Given the description of an element on the screen output the (x, y) to click on. 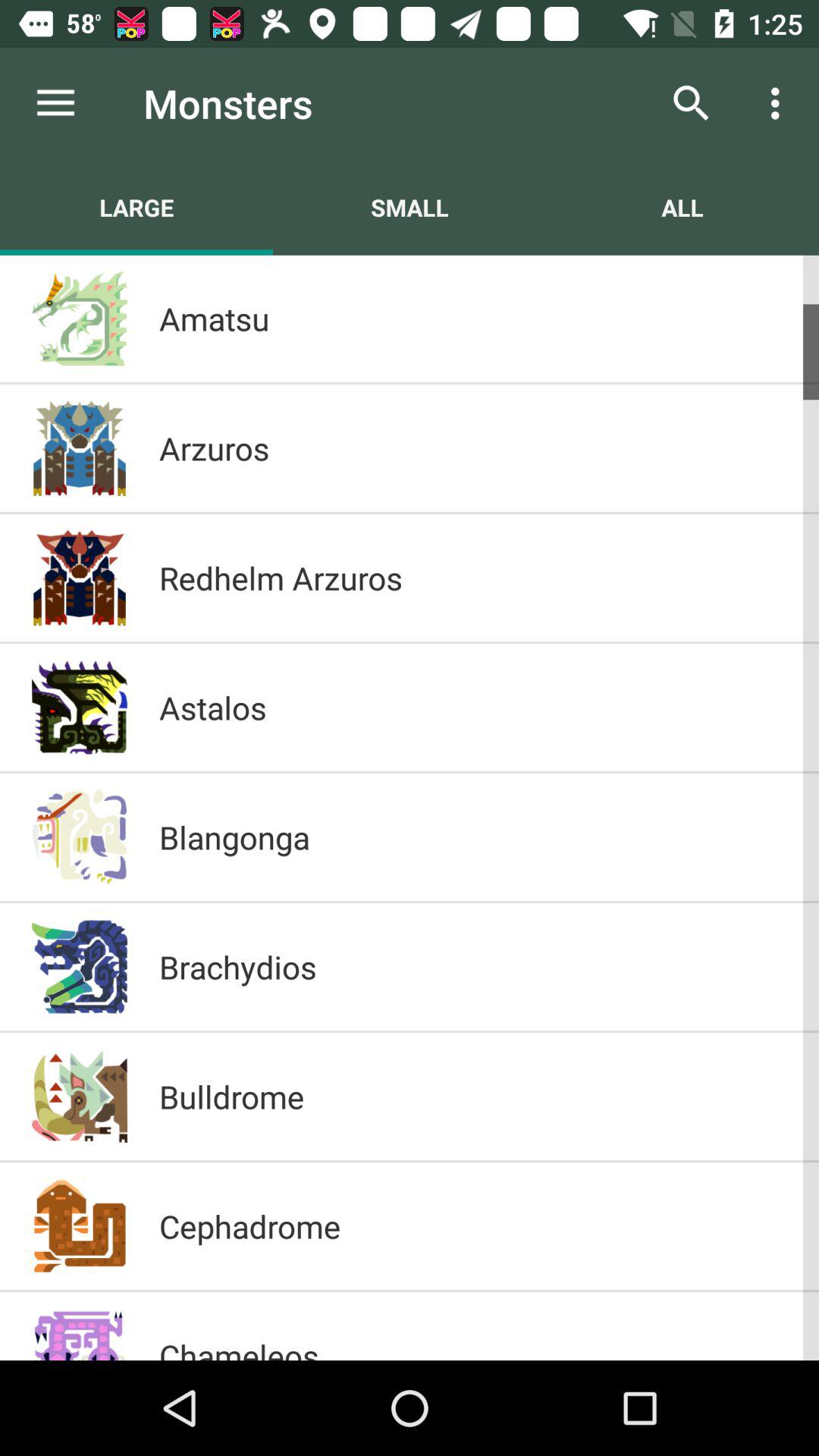
turn off the app next to small icon (682, 207)
